Given the description of an element on the screen output the (x, y) to click on. 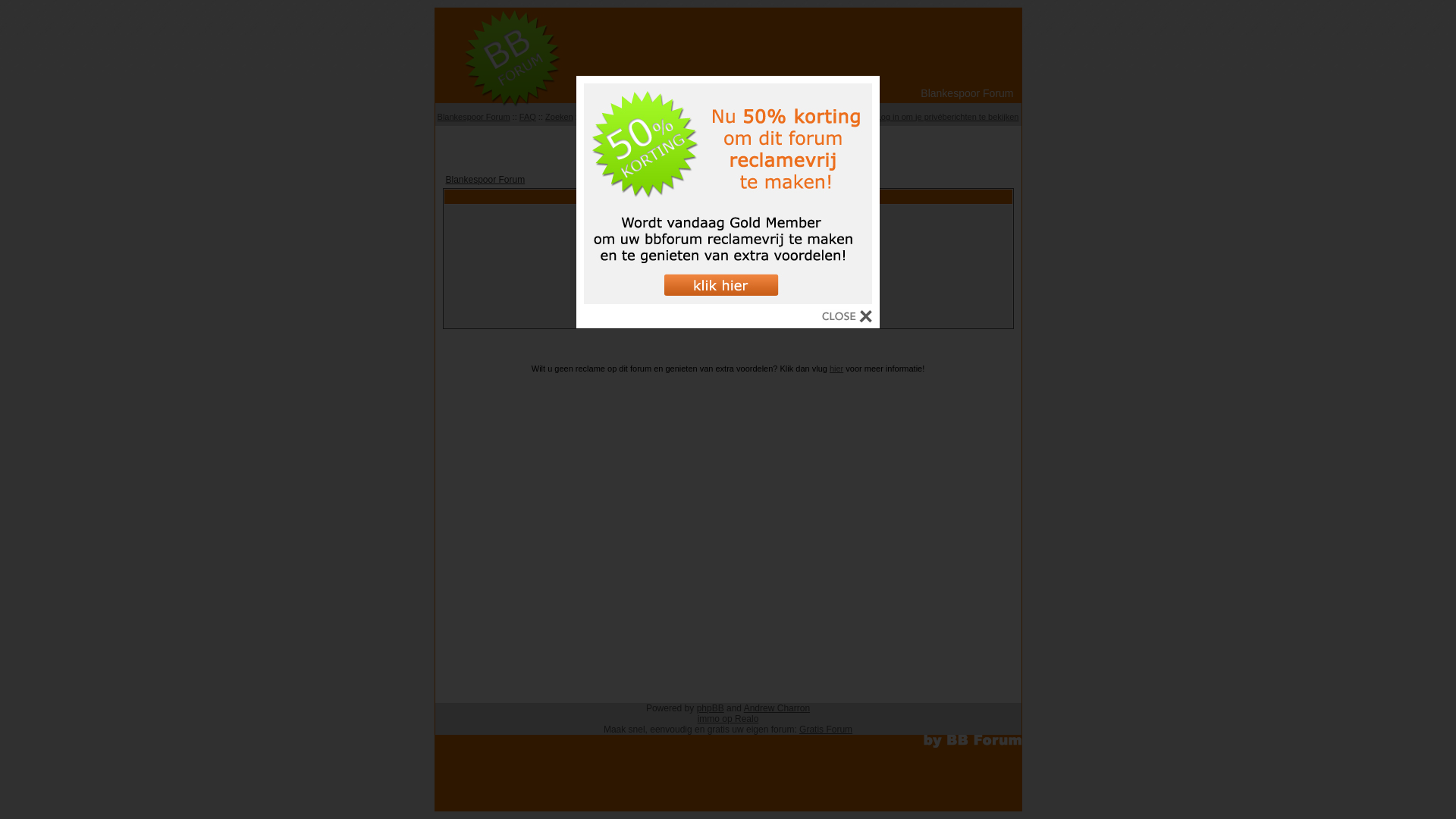
Ik ben mijn wachtwoord vergeten Element type: text (728, 316)
Viraal Nieuws Element type: text (727, 144)
Registreren Element type: text (771, 116)
FAQ Element type: text (527, 116)
Gebruikersgroepen Element type: text (679, 116)
klik voor meer informatie Element type: hover (727, 299)
Gebruikerslijst Element type: text (608, 116)
Andrew Charron Element type: text (776, 707)
hier Element type: text (836, 368)
sluiten Element type: hover (847, 318)
Inloggen Element type: text (727, 299)
phpBB Element type: text (710, 707)
Profiel Element type: text (854, 116)
Zoeken Element type: text (559, 116)
Inloggen Element type: text (818, 116)
Blankespoor Forum Element type: text (485, 179)
Gratis Forum Element type: text (825, 729)
Blankespoor Forum Element type: text (473, 116)
immo op Realo Element type: text (728, 718)
